Given the description of an element on the screen output the (x, y) to click on. 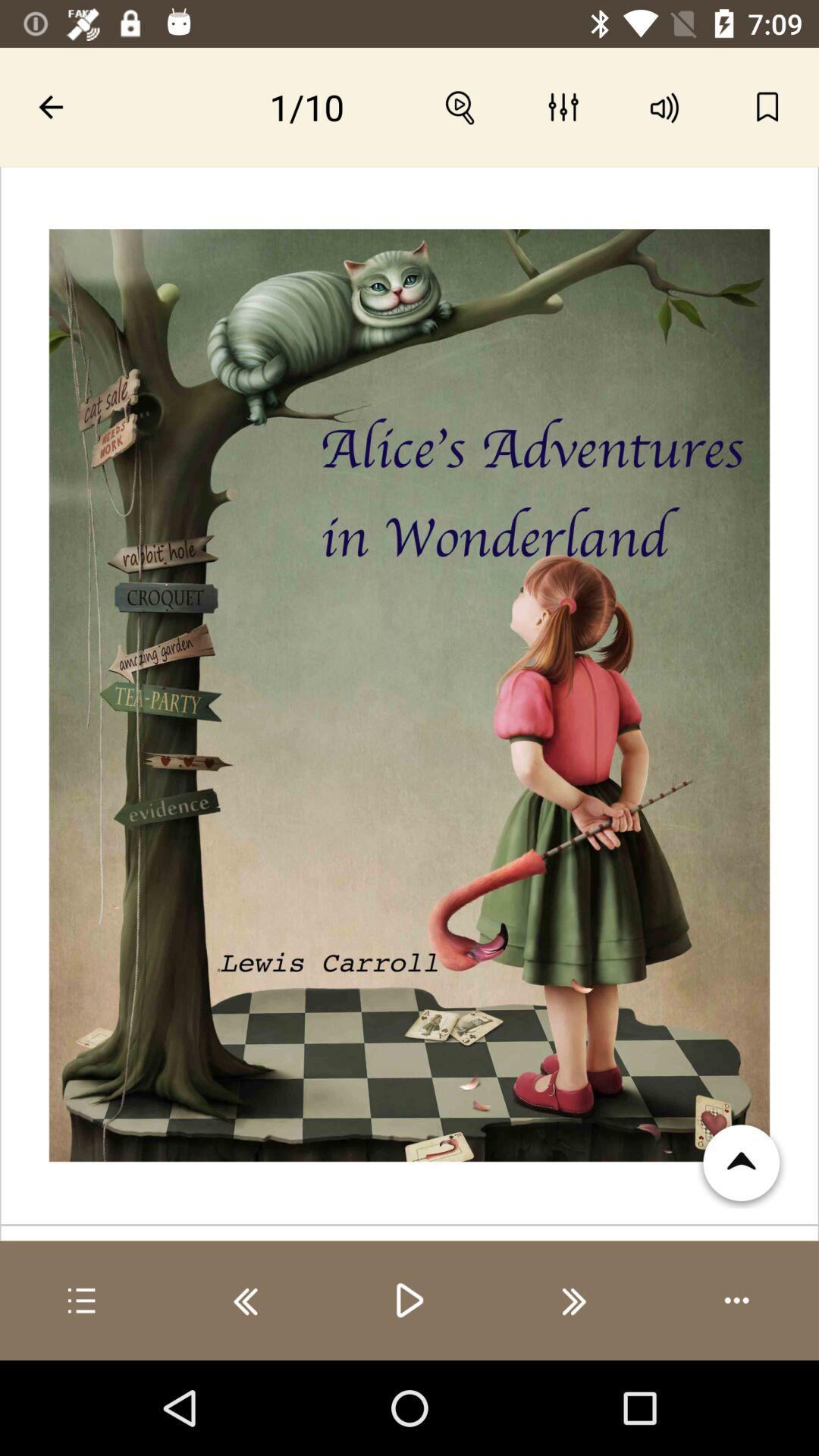
toggle autoplay option (737, 1300)
